Given the description of an element on the screen output the (x, y) to click on. 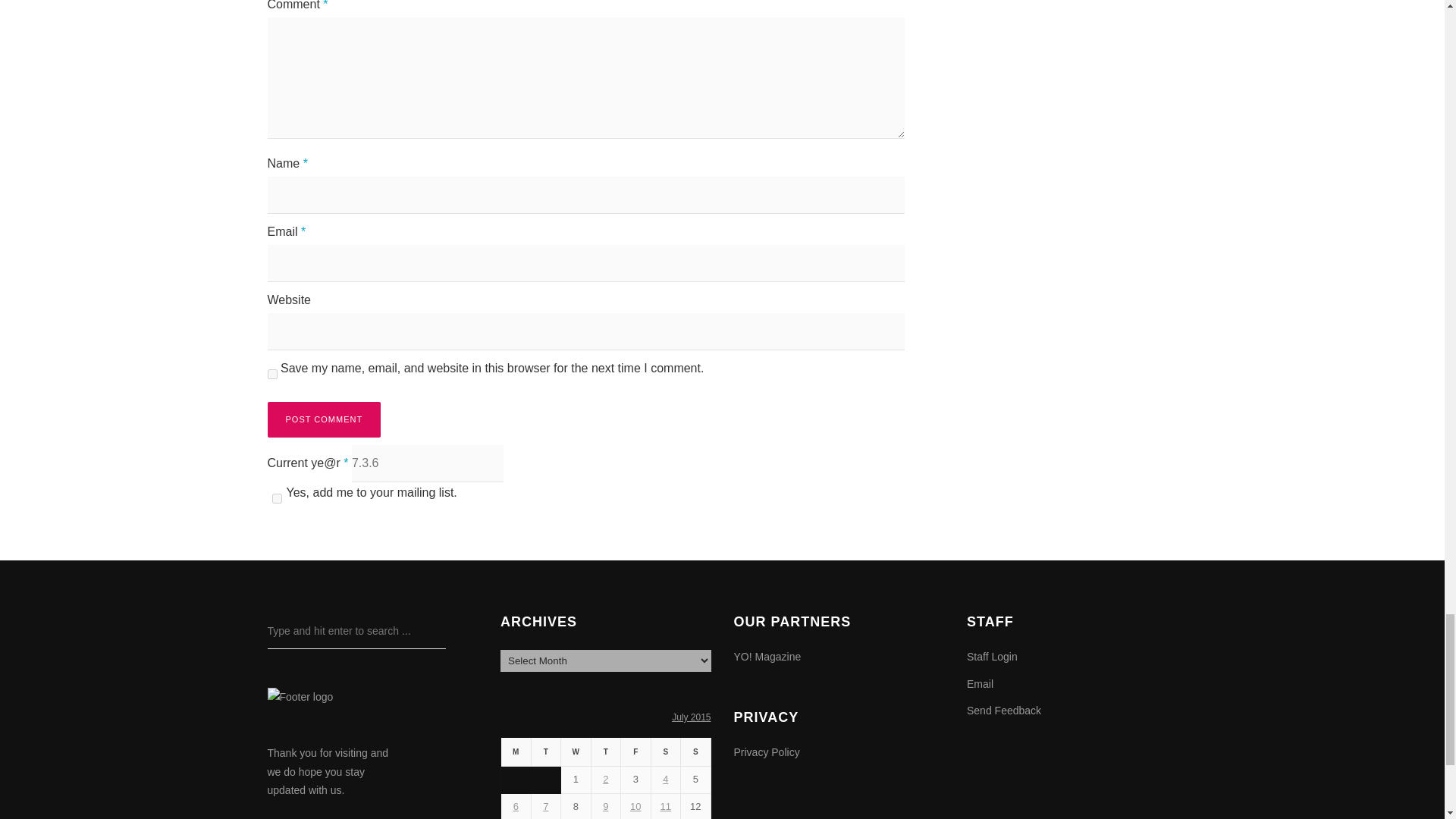
yes (271, 374)
Type and hit enter to search ... (355, 631)
Post Comment (323, 419)
7.3.6 (427, 463)
Type and hit enter to search ... (355, 631)
Monday (515, 752)
1 (275, 498)
